Given the description of an element on the screen output the (x, y) to click on. 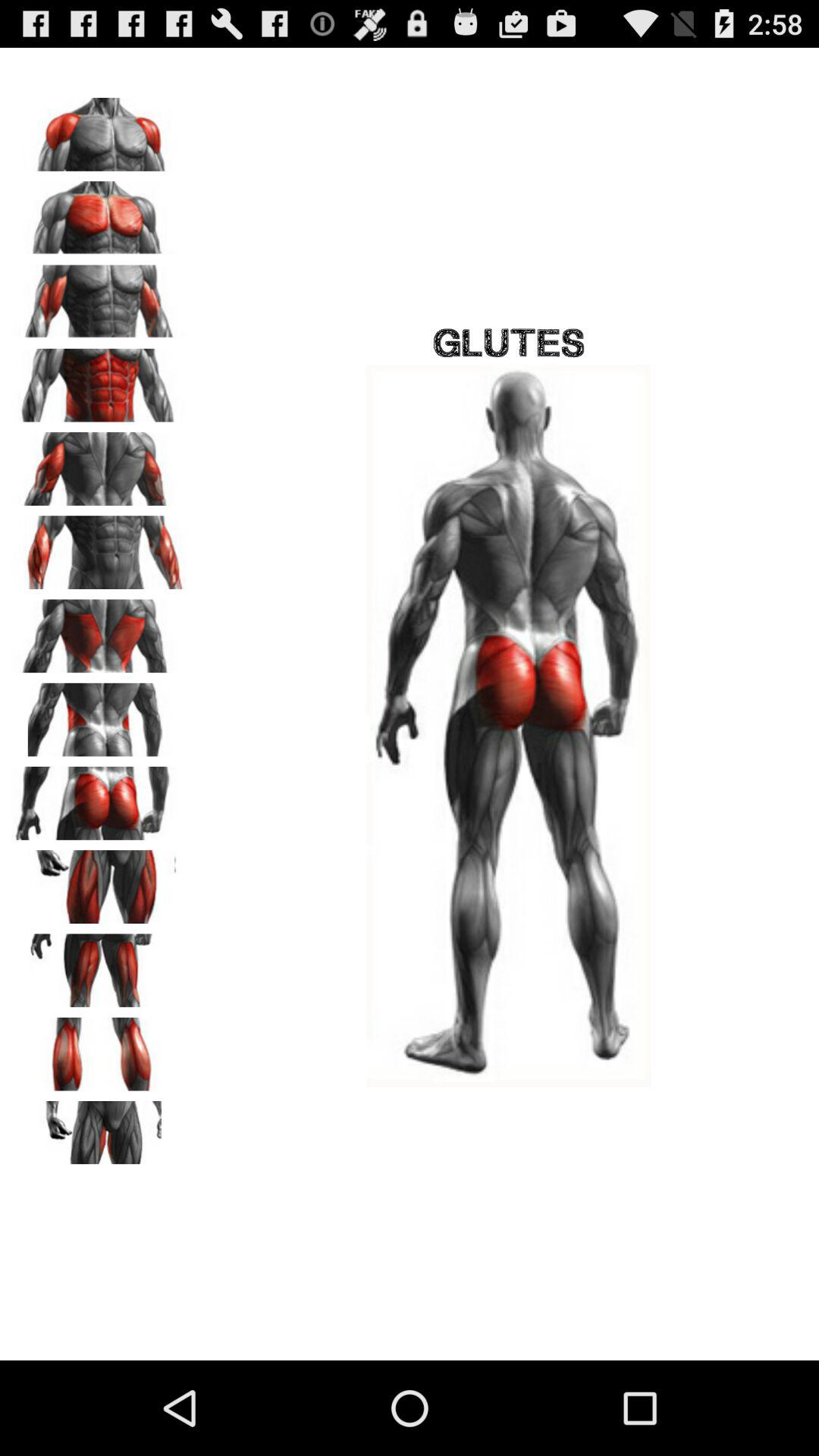
select this muscle (99, 630)
